Given the description of an element on the screen output the (x, y) to click on. 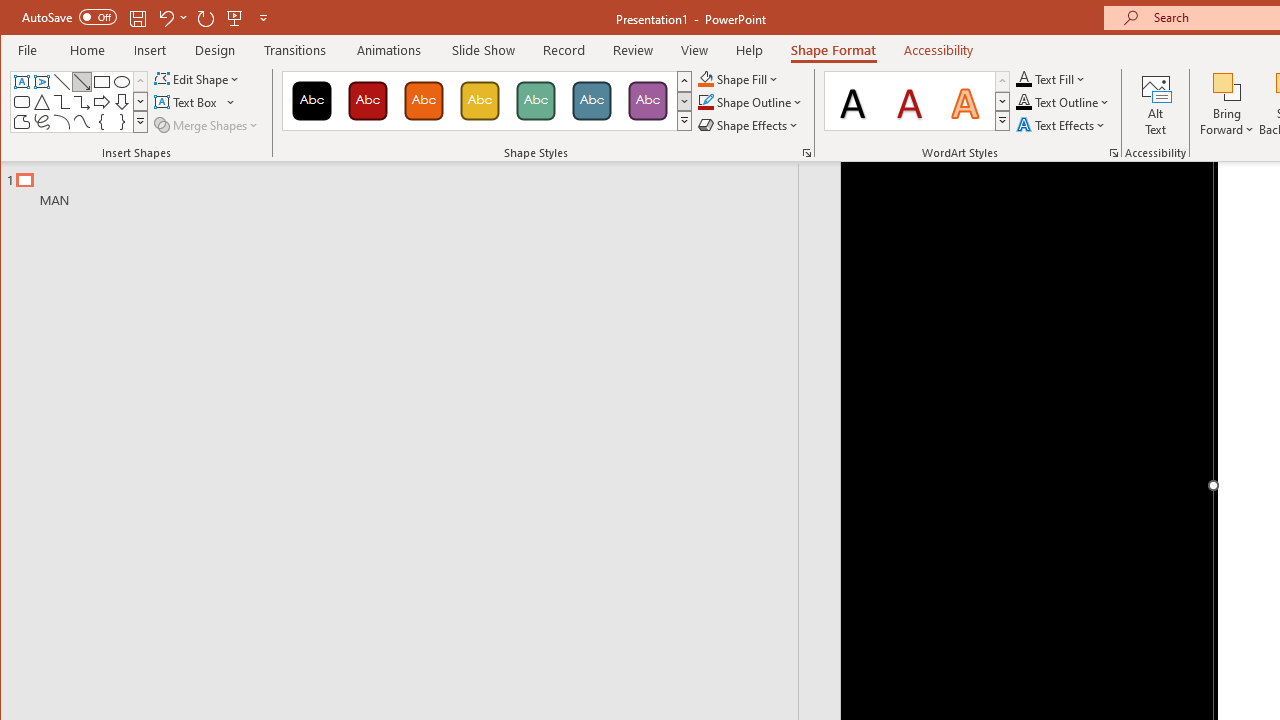
Curve (81, 121)
Colored Fill - Gold, Accent 3 (479, 100)
Shape Fill (739, 78)
Text Fill RGB(0, 0, 0) (1023, 78)
Text Outline RGB(0, 0, 0) (1023, 101)
Shape Format (833, 50)
Shape Fill Orange, Accent 2 (705, 78)
Quick Styles (1001, 120)
Bring Forward (1227, 86)
Text Box (21, 82)
Rectangle: Rounded Corners (21, 102)
